Given the description of an element on the screen output the (x, y) to click on. 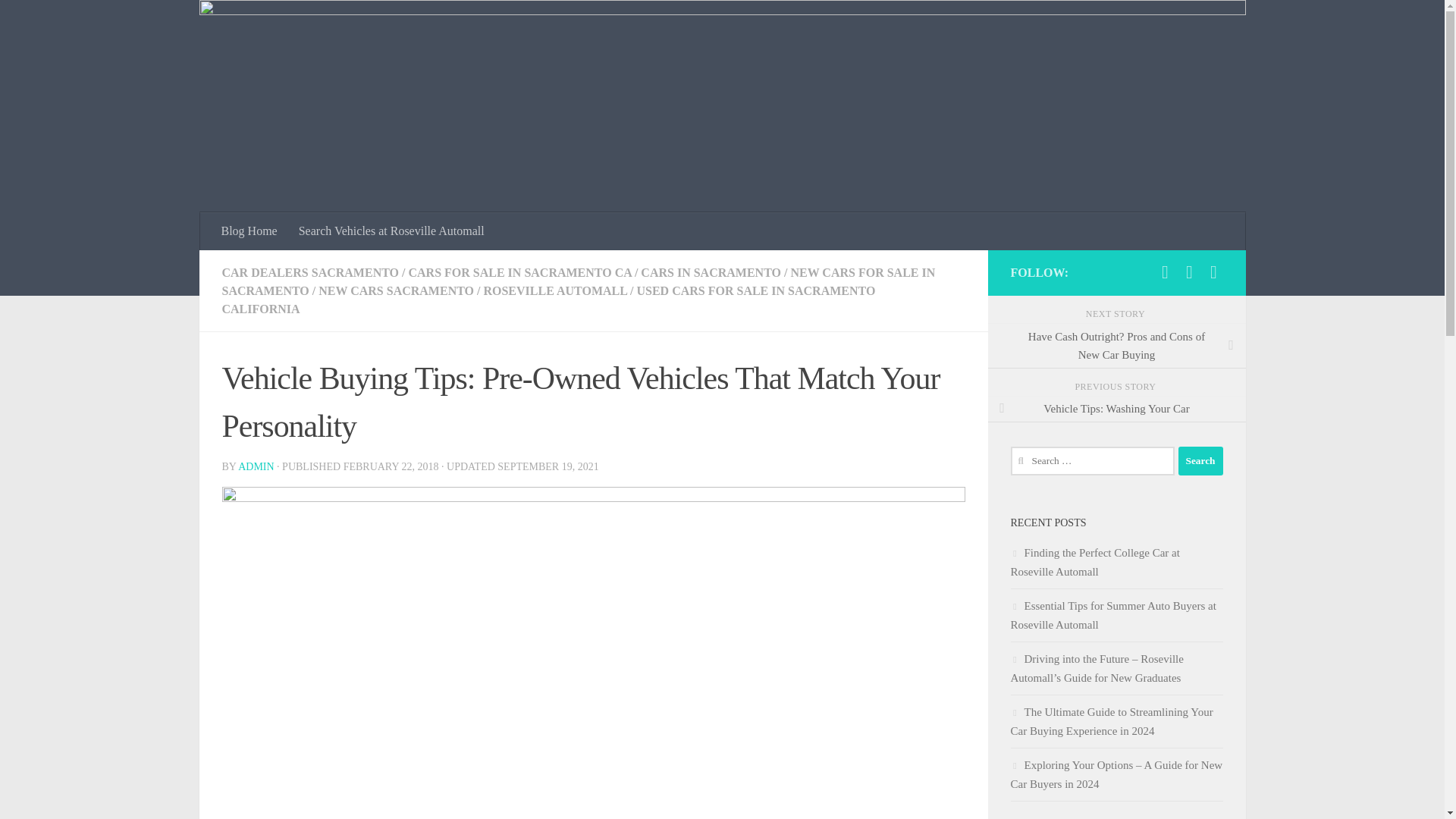
Search (1200, 460)
Follow us on Facebook (1164, 271)
CARS IN SACRAMENTO (710, 272)
Posts by admin (255, 466)
Have Cash Outright? Pros and Cons of New Car Buying (1115, 345)
CAR DEALERS SACRAMENTO (309, 272)
Search Vehicles at Roseville Automall (391, 231)
Search (1200, 460)
CARS FOR SALE IN SACRAMENTO CA (518, 272)
Skip to content (59, 20)
ROSEVILLE AUTOMALL (555, 290)
ADMIN (255, 466)
Blog Home (249, 231)
NEW CARS SACRAMENTO (396, 290)
